Given the description of an element on the screen output the (x, y) to click on. 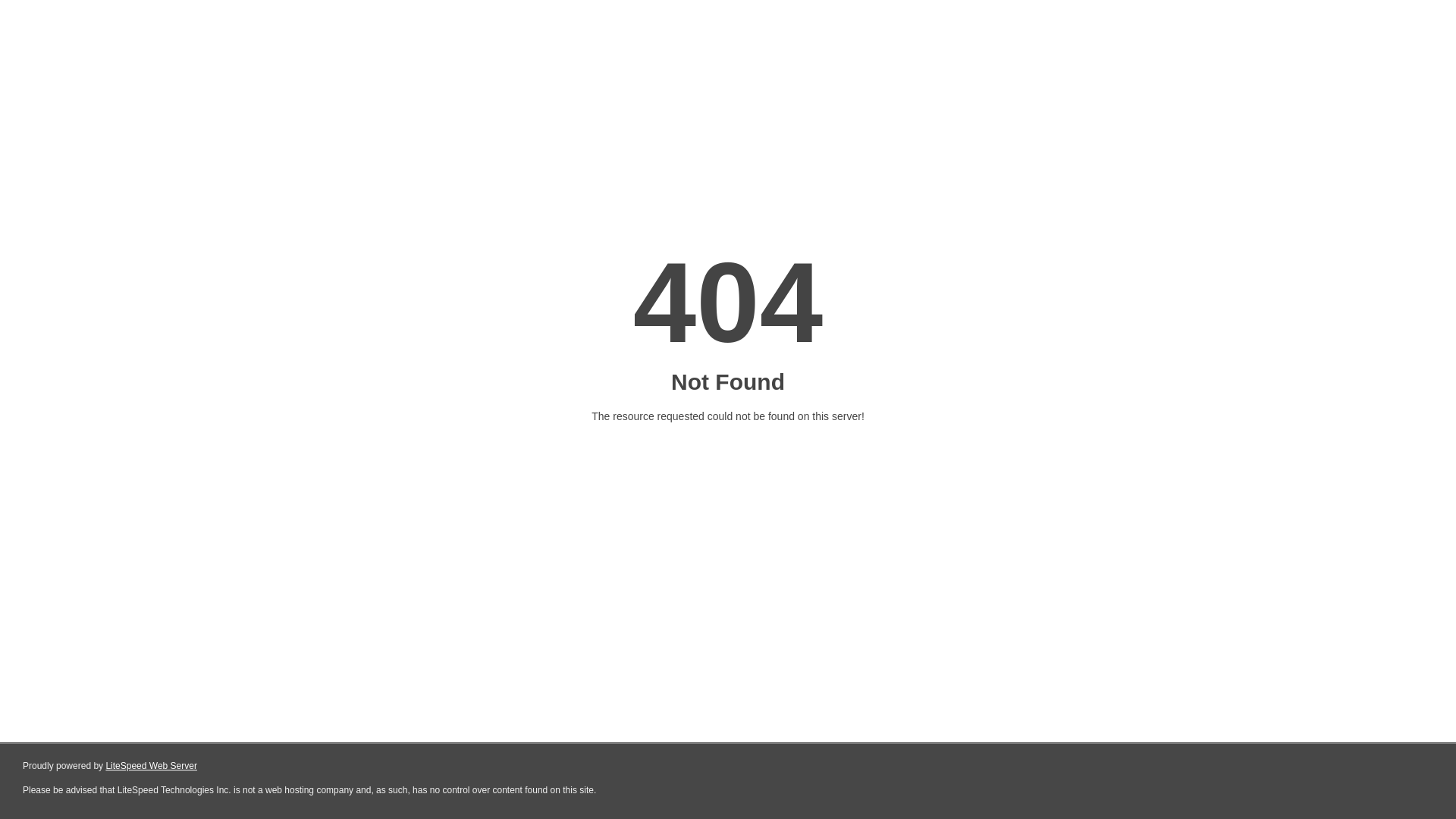
LiteSpeed Web Server Element type: text (151, 765)
